Given the description of an element on the screen output the (x, y) to click on. 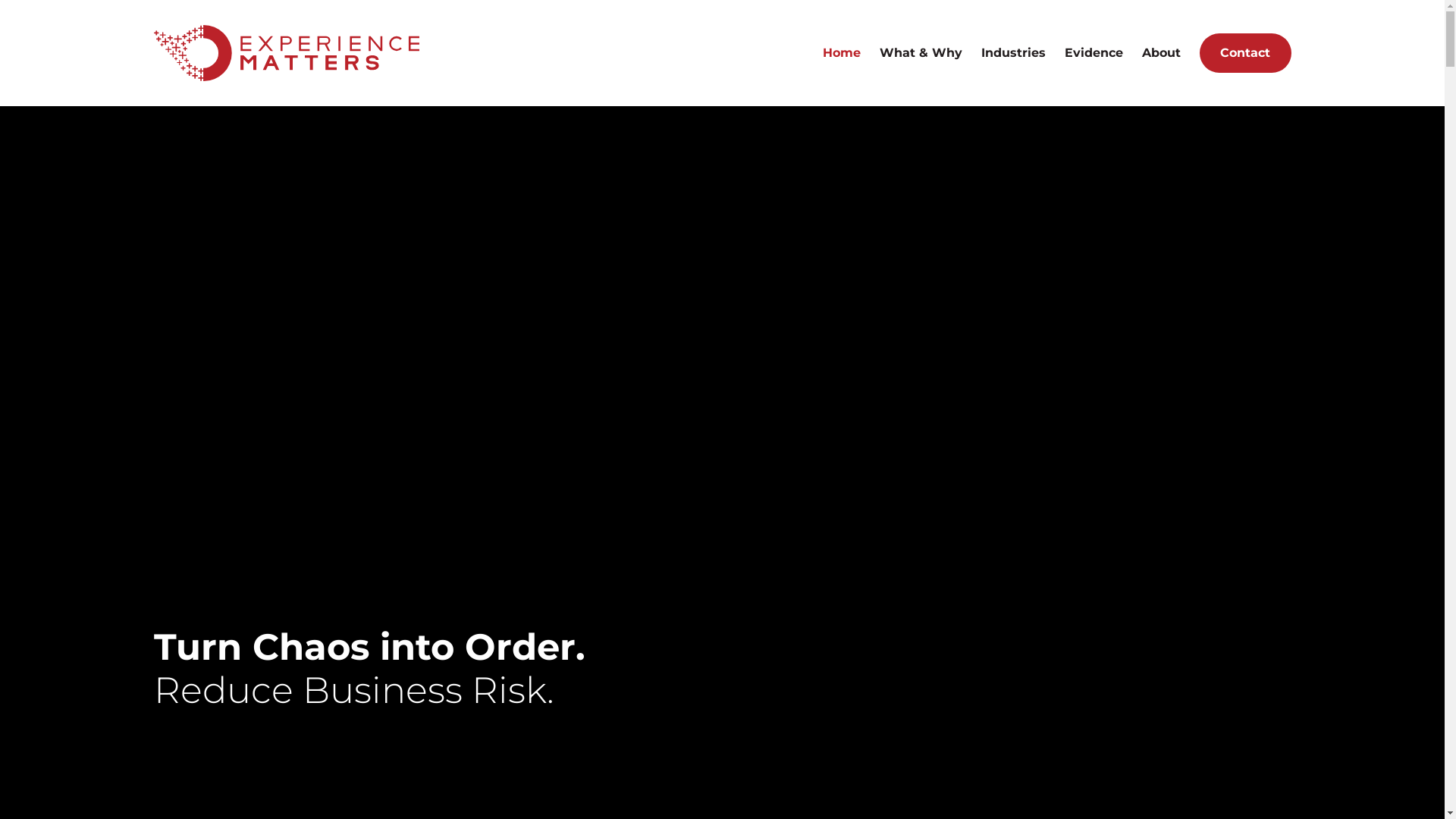
Evidence Element type: text (1093, 52)
About Element type: text (1161, 52)
What & Why Element type: text (920, 52)
Home Element type: text (841, 52)
Industries Element type: text (1013, 52)
Contact Element type: text (1244, 52)
